Given the description of an element on the screen output the (x, y) to click on. 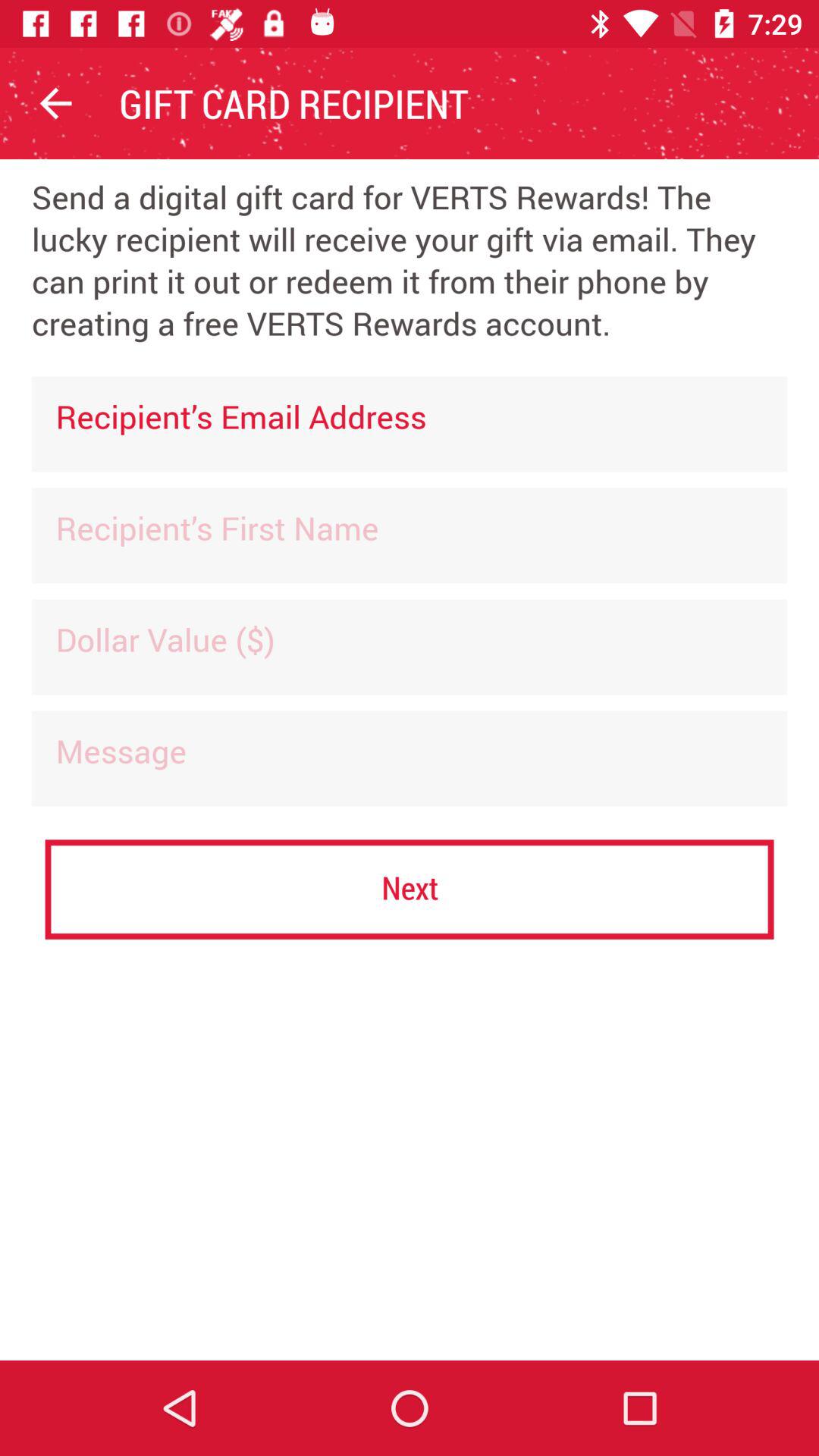
tap the icon below the send a digital (409, 424)
